Given the description of an element on the screen output the (x, y) to click on. 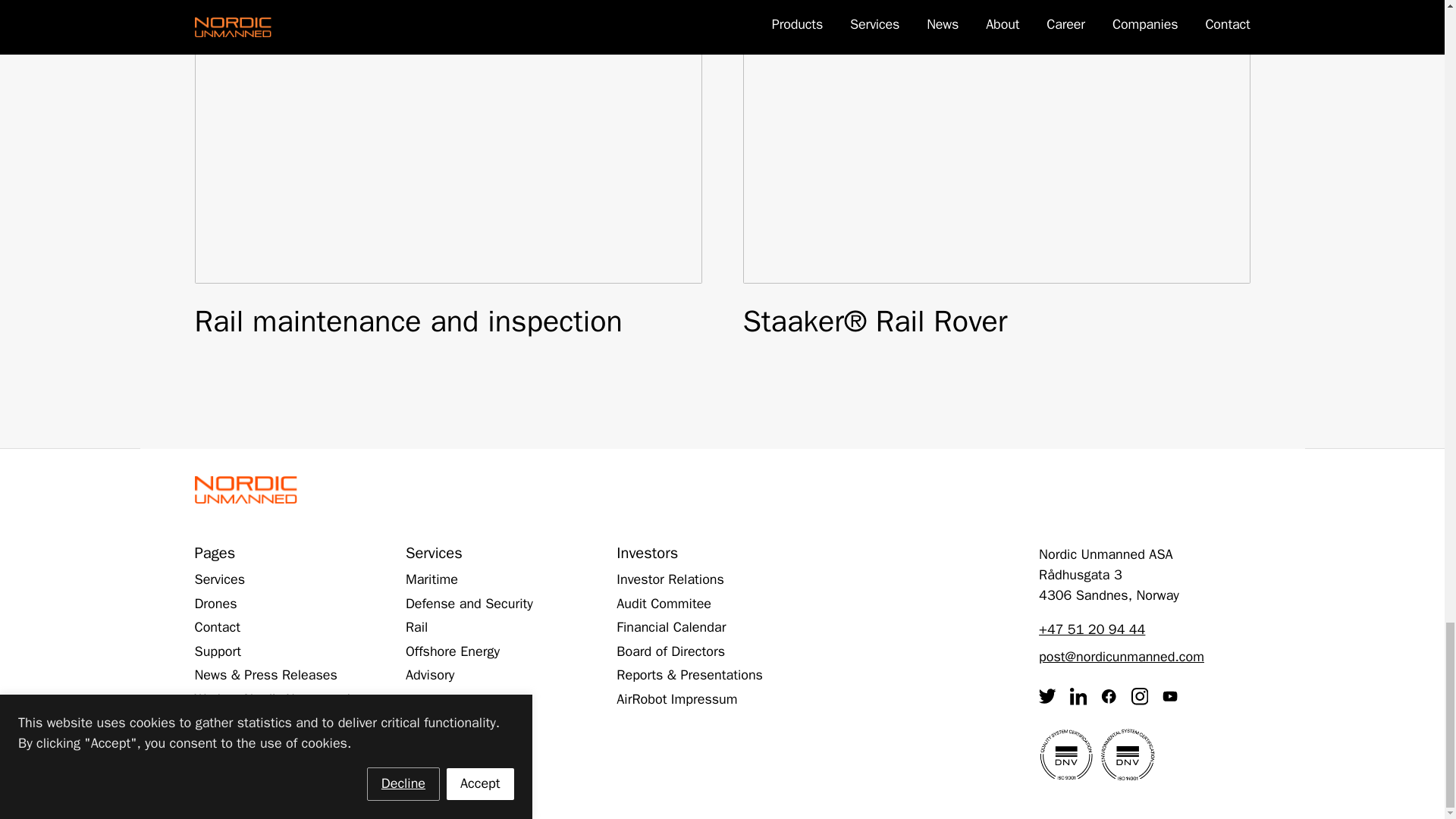
Services (218, 579)
Contact (216, 627)
Financial Calendar (670, 627)
Work at Nordic Unmanned (271, 699)
Twitter (1047, 695)
Facebook (1108, 695)
Advisory (430, 675)
Investor Relations (669, 579)
Defense and Security (469, 603)
Linkedin (1078, 695)
AirRobot Impressum (675, 699)
Rail (417, 627)
Audit Commitee (663, 603)
Drones (214, 603)
